Given the description of an element on the screen output the (x, y) to click on. 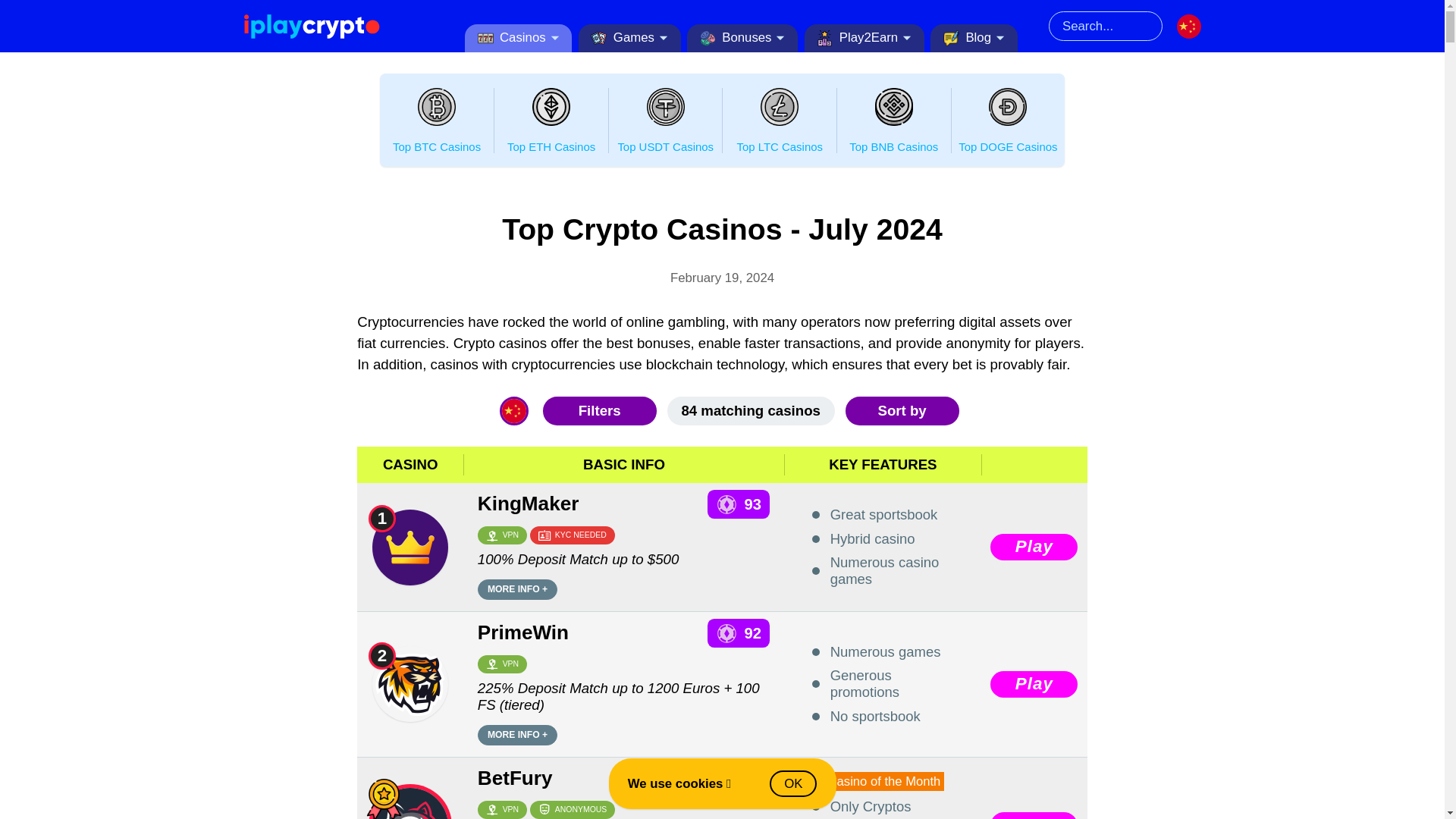
Crypto Games (599, 37)
iPlayCrypto (311, 26)
cn (513, 410)
PrimeWin (410, 683)
Casinos (518, 38)
Top DOGE Casinos (1007, 106)
BetFury (410, 803)
KingMaker (410, 547)
Casino of the Month (383, 798)
Top BNB Casinos (893, 106)
Crypto Blog (951, 37)
Top LTC Casinos (778, 106)
Top Bitcoin Casinos (436, 106)
Games (629, 38)
cn (1188, 26)
